Given the description of an element on the screen output the (x, y) to click on. 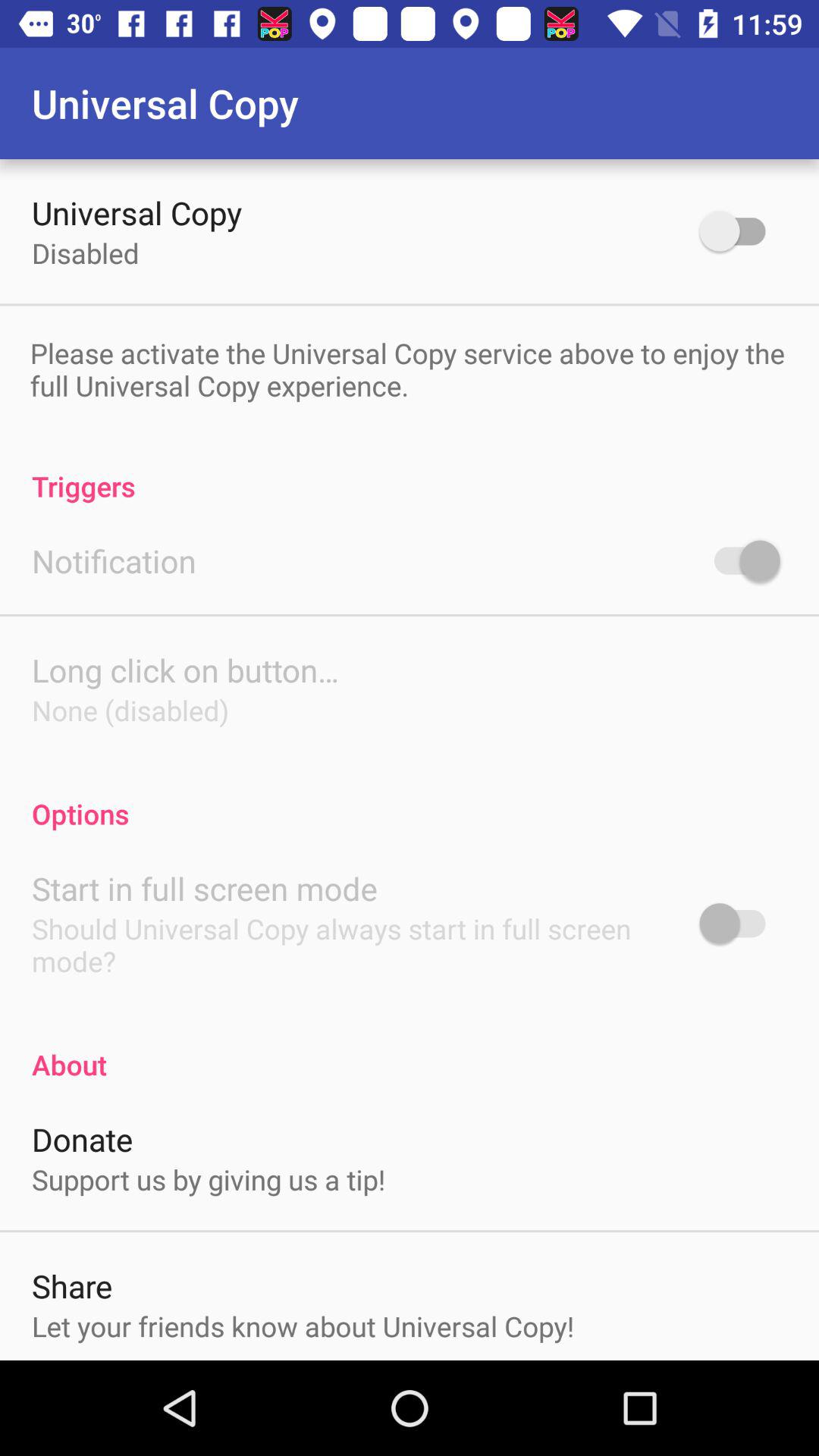
activate universal copy (739, 231)
